Given the description of an element on the screen output the (x, y) to click on. 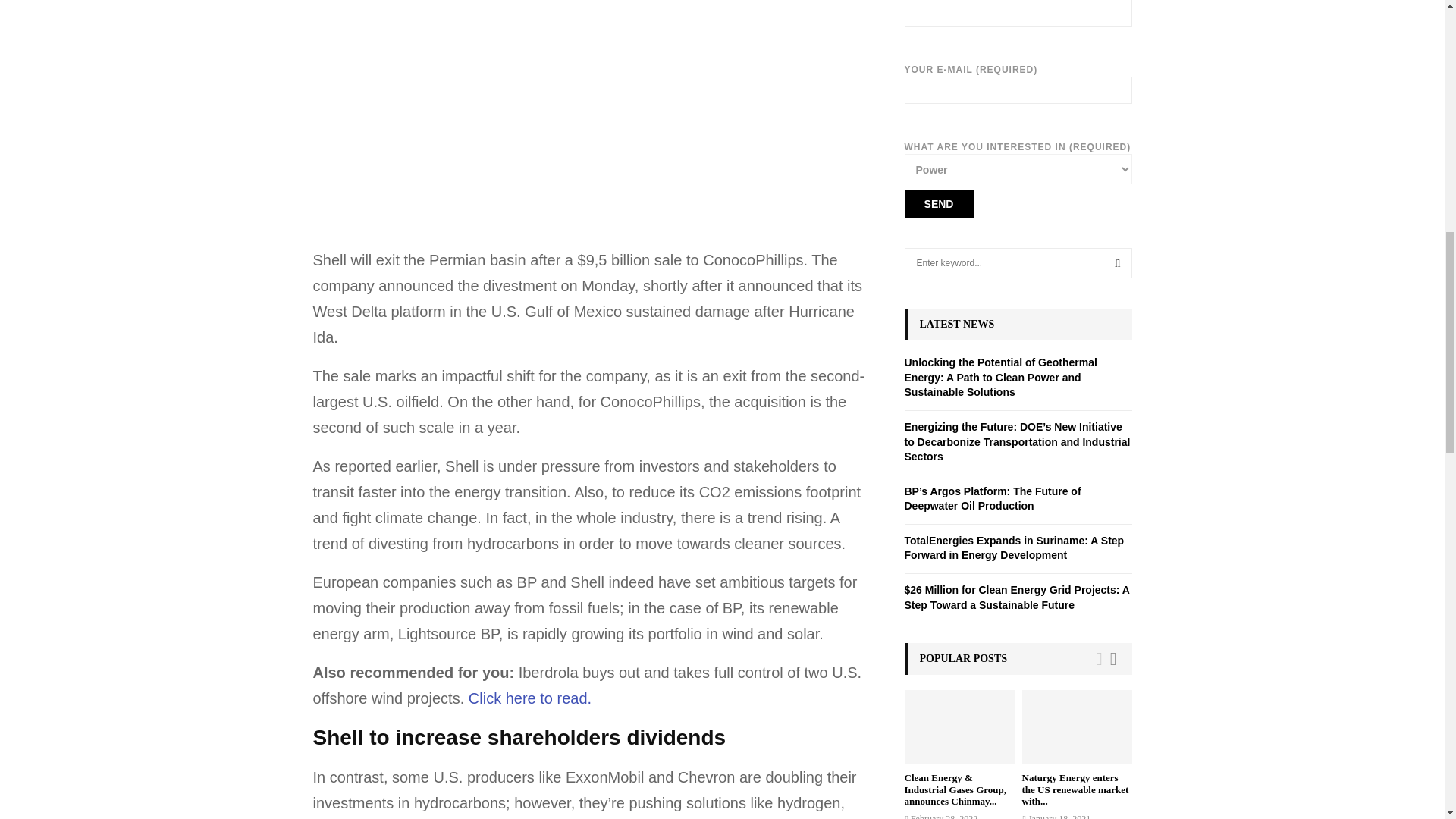
Send (938, 203)
